Given the description of an element on the screen output the (x, y) to click on. 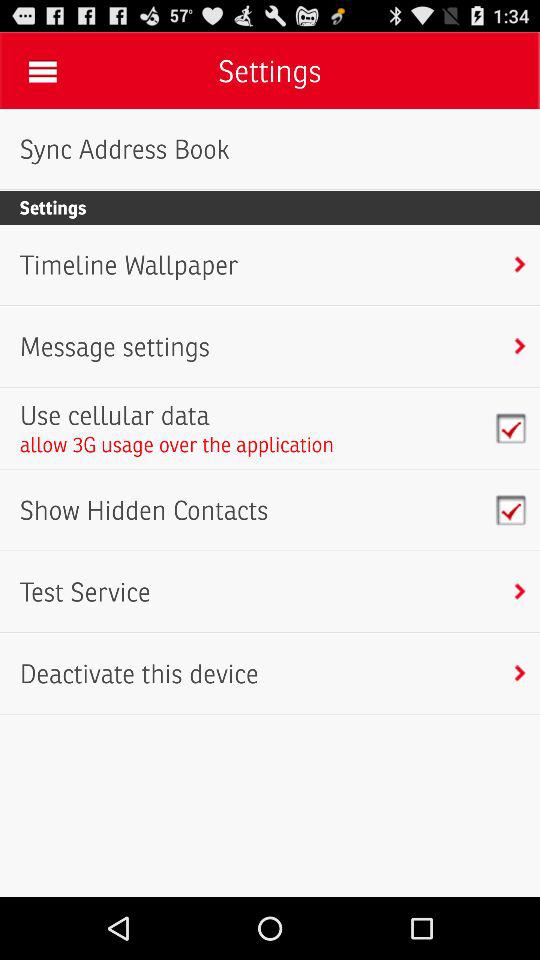
turn off message settings app (114, 346)
